Given the description of an element on the screen output the (x, y) to click on. 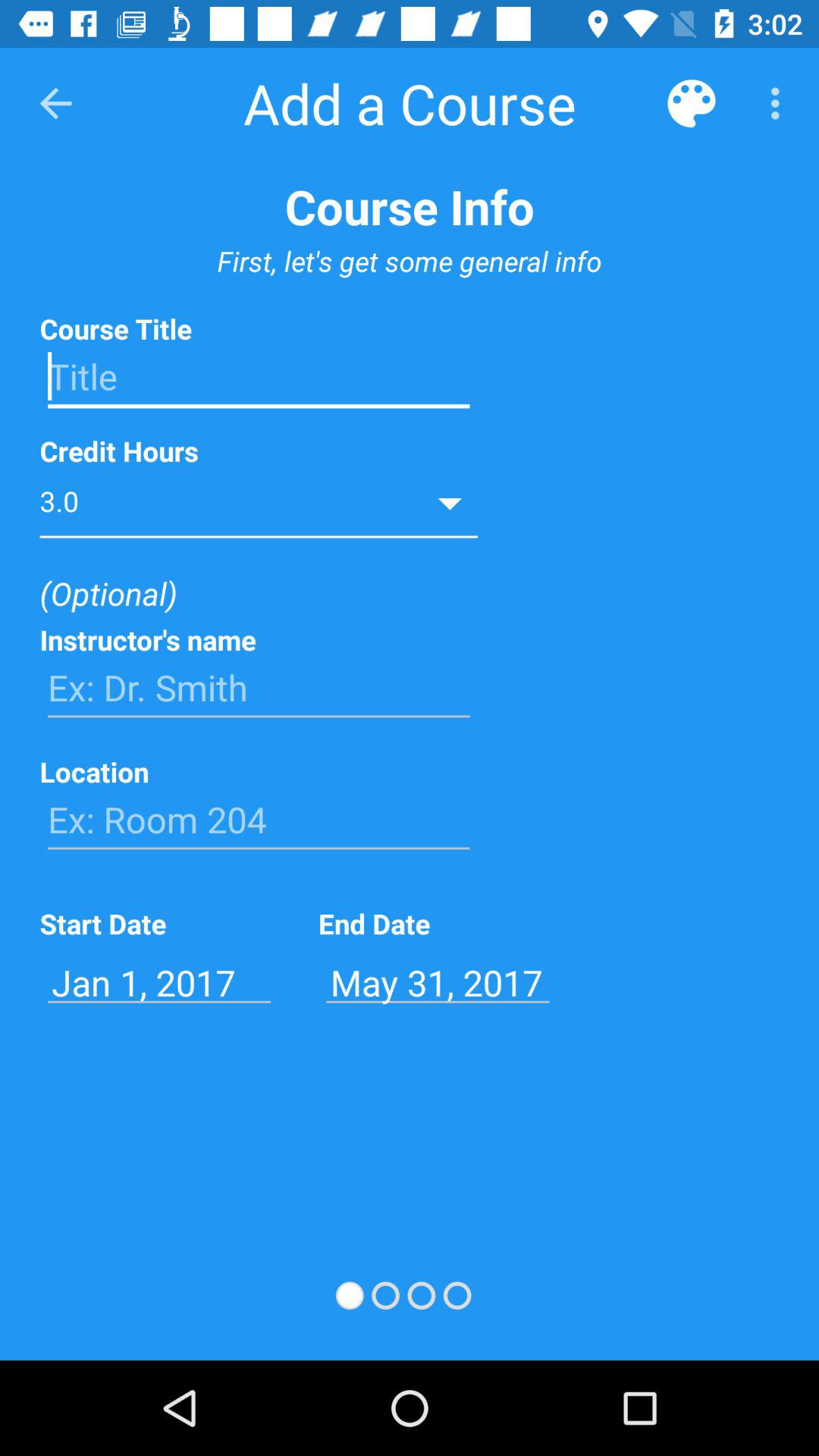
insert name (258, 688)
